Given the description of an element on the screen output the (x, y) to click on. 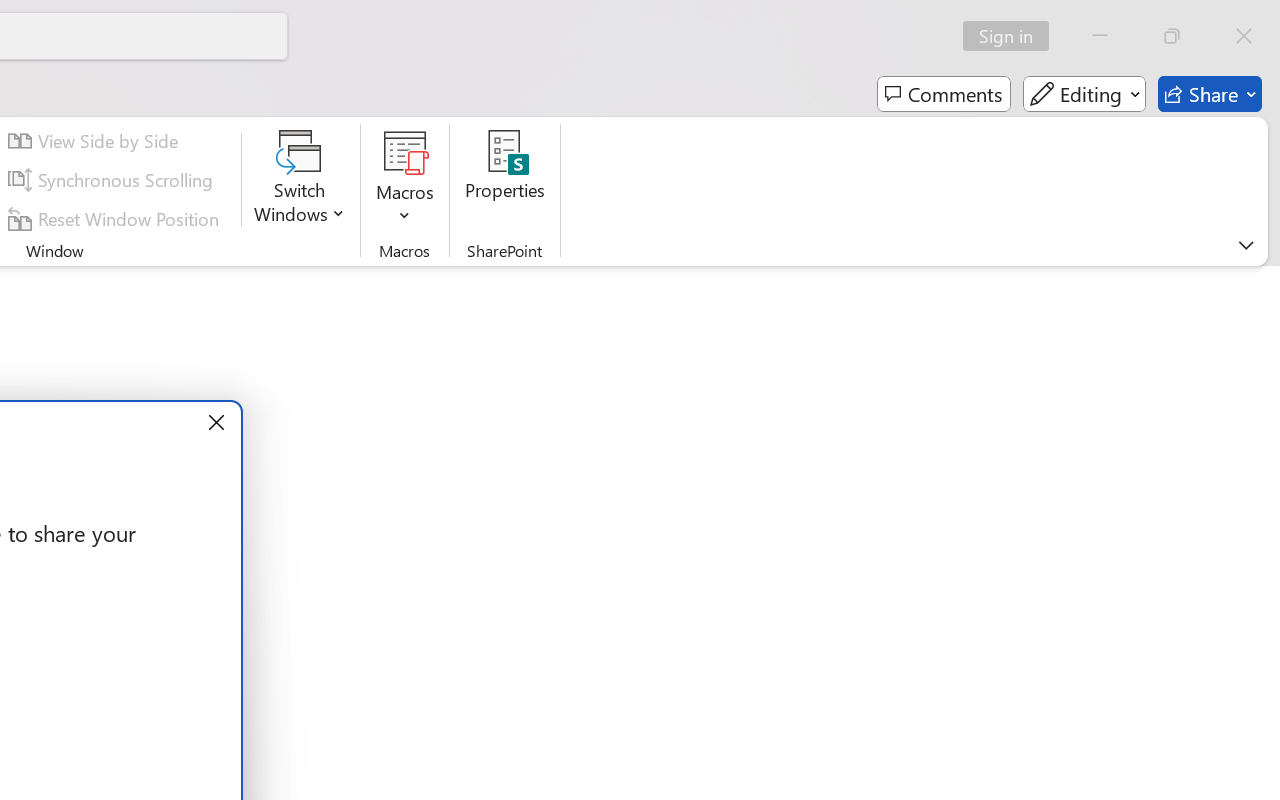
Macros (404, 179)
Switch Windows (299, 179)
Properties (505, 179)
View Side by Side (96, 141)
View Macros (404, 151)
Synchronous Scrolling (114, 179)
Reset Window Position (116, 218)
